Given the description of an element on the screen output the (x, y) to click on. 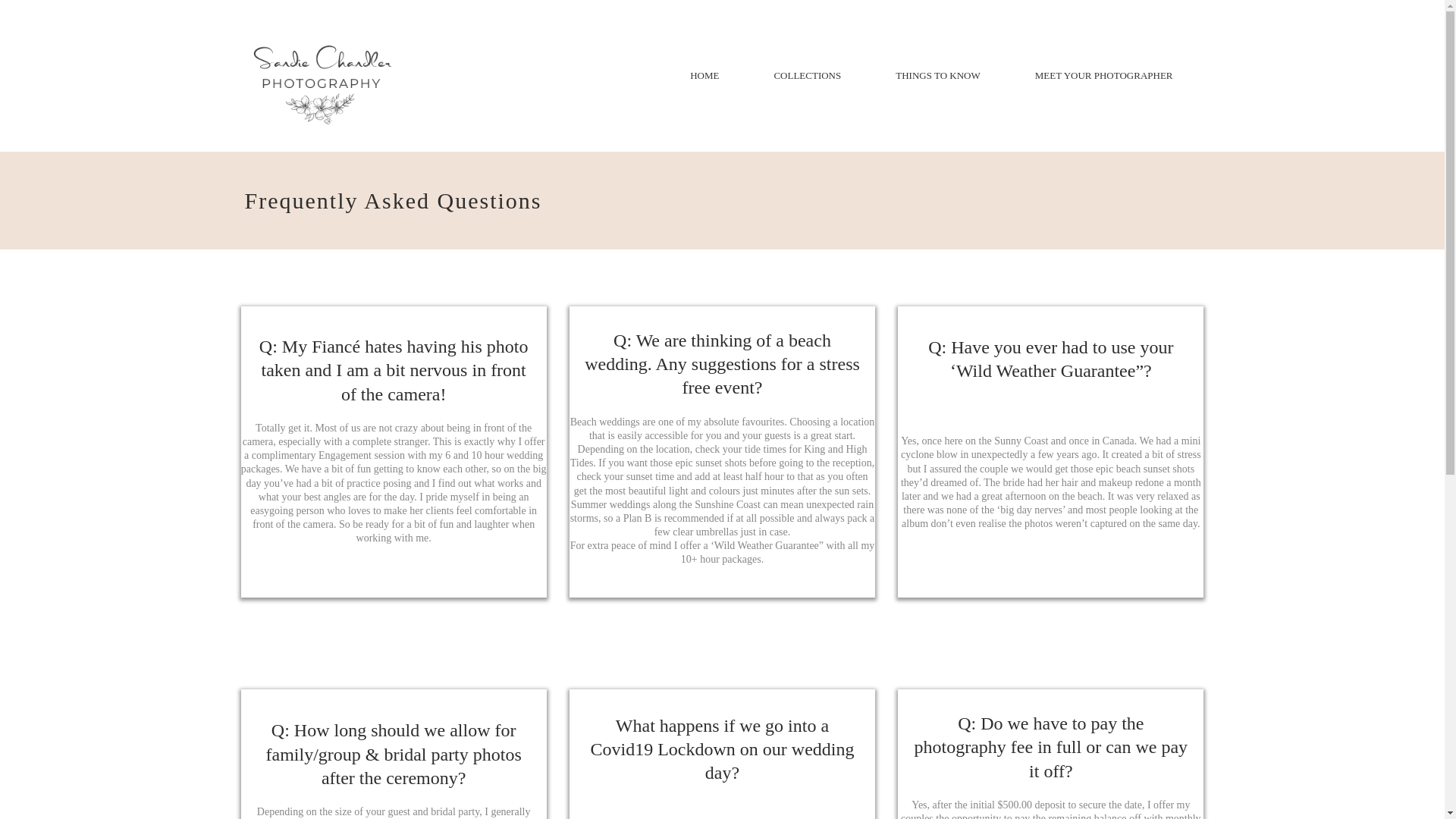
COLLECTIONS (806, 75)
THINGS TO KNOW (937, 75)
MEET YOUR PHOTOGRAPHER (1103, 75)
HOME (703, 75)
